Given the description of an element on the screen output the (x, y) to click on. 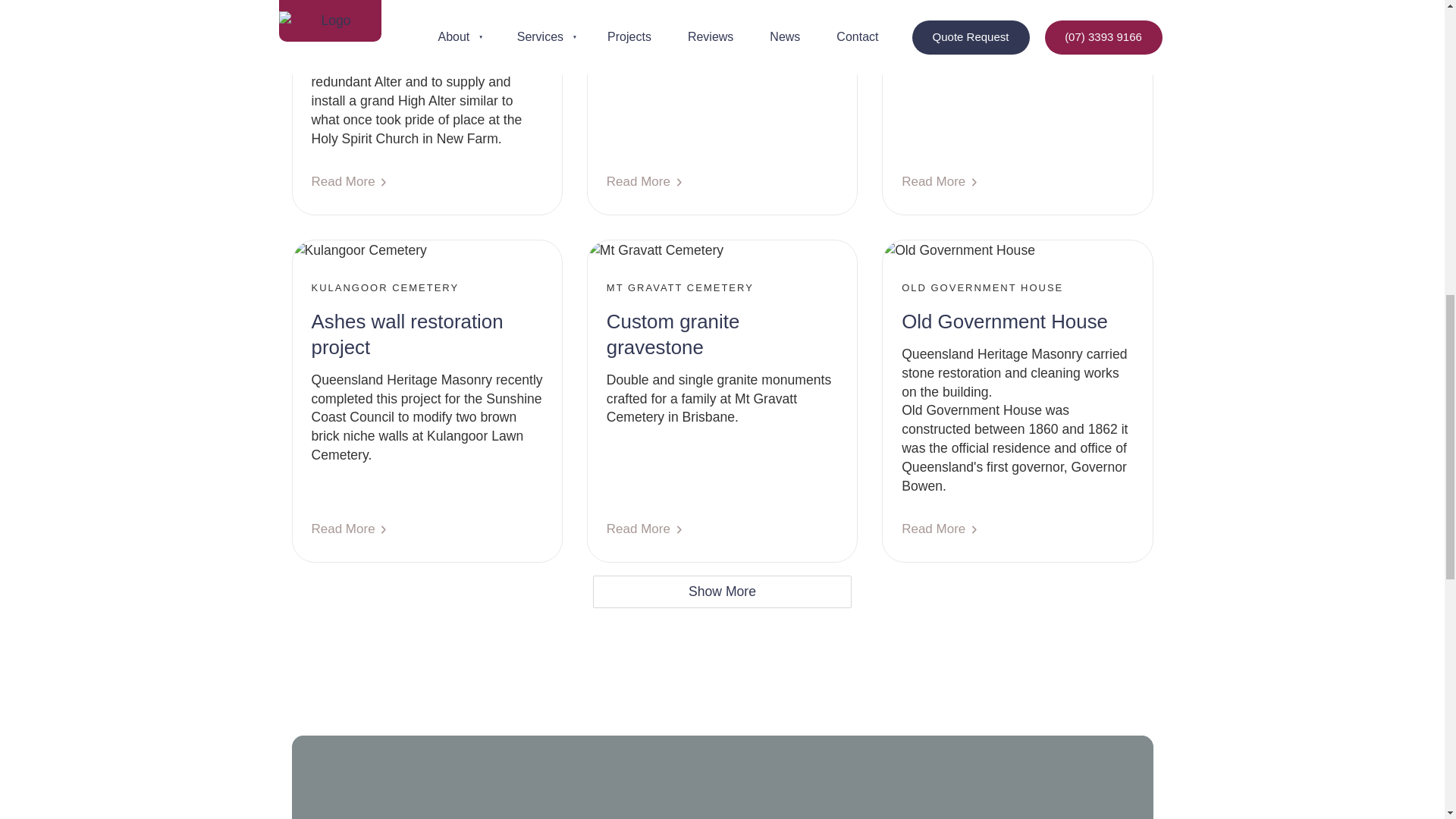
Read More (349, 181)
Read More (939, 181)
Read More (939, 529)
Read More (645, 529)
Read More (349, 529)
Read More (645, 181)
Show More (721, 591)
